Given the description of an element on the screen output the (x, y) to click on. 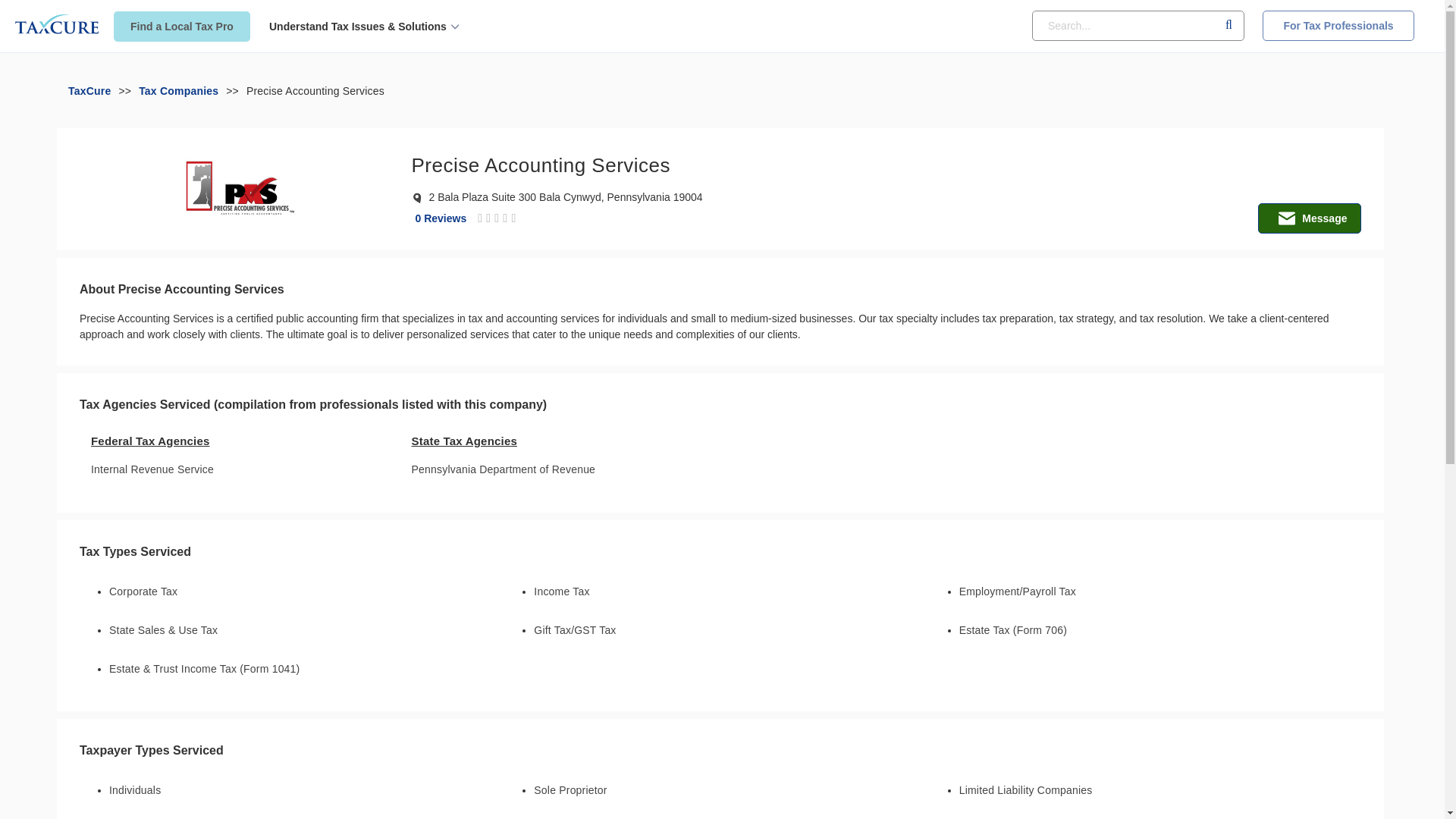
Find a Local Tax Pro (181, 26)
TaxCure (89, 91)
